Given the description of an element on the screen output the (x, y) to click on. 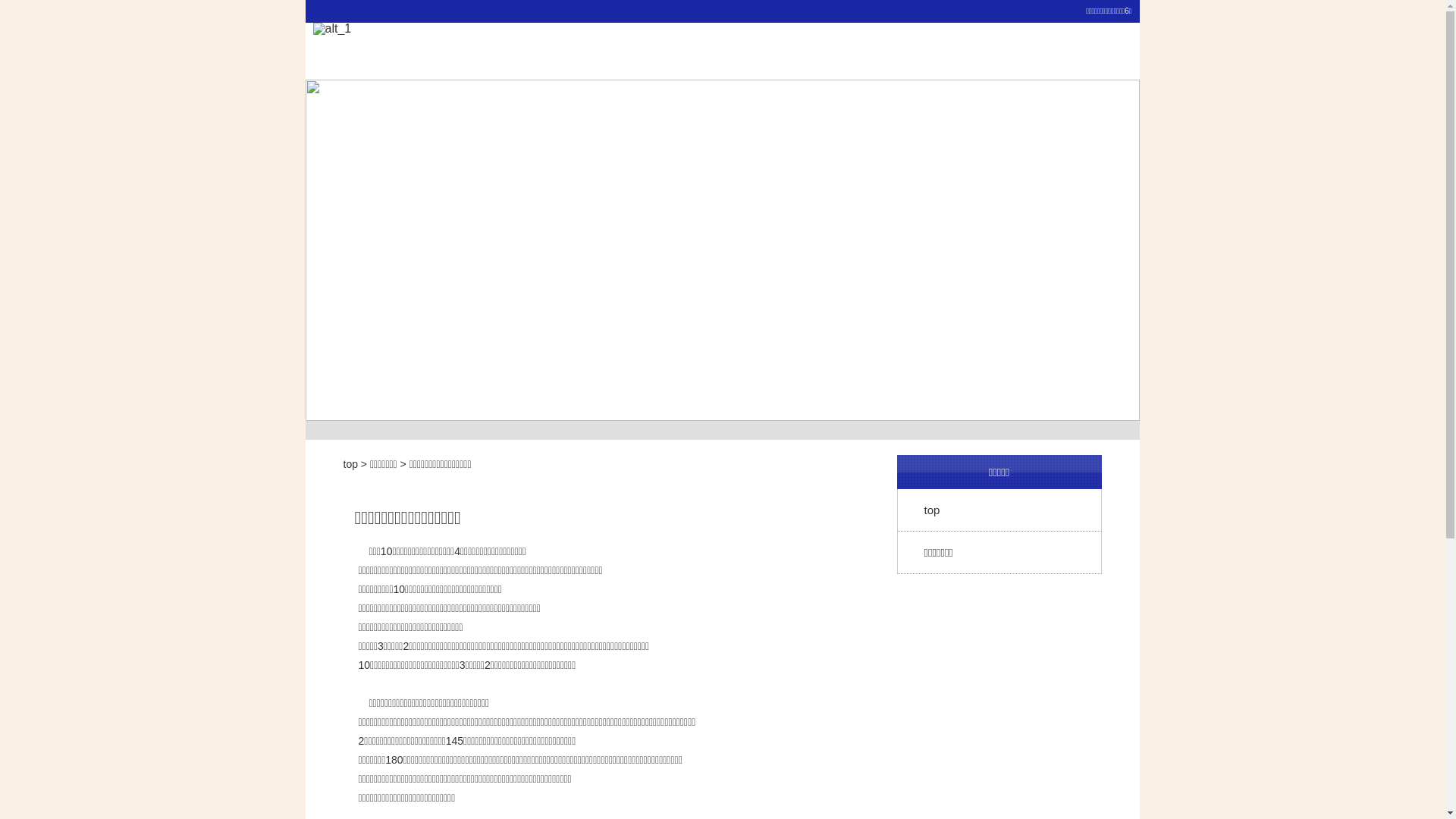
top Element type: text (349, 464)
top Element type: text (999, 509)
